Given the description of an element on the screen output the (x, y) to click on. 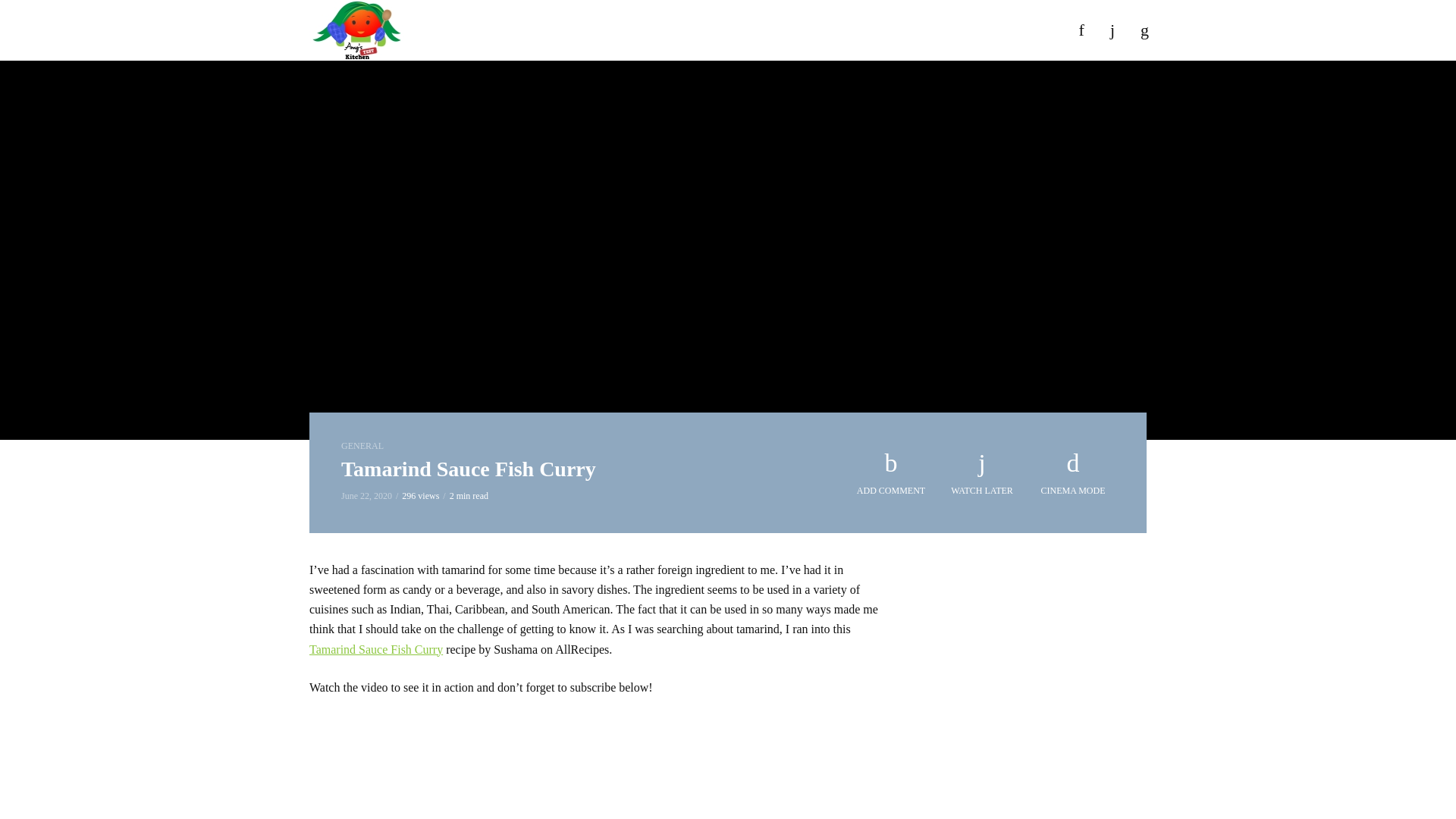
ADD COMMENT (890, 473)
GENERAL (362, 445)
WATCH LATER (981, 473)
